Given the description of an element on the screen output the (x, y) to click on. 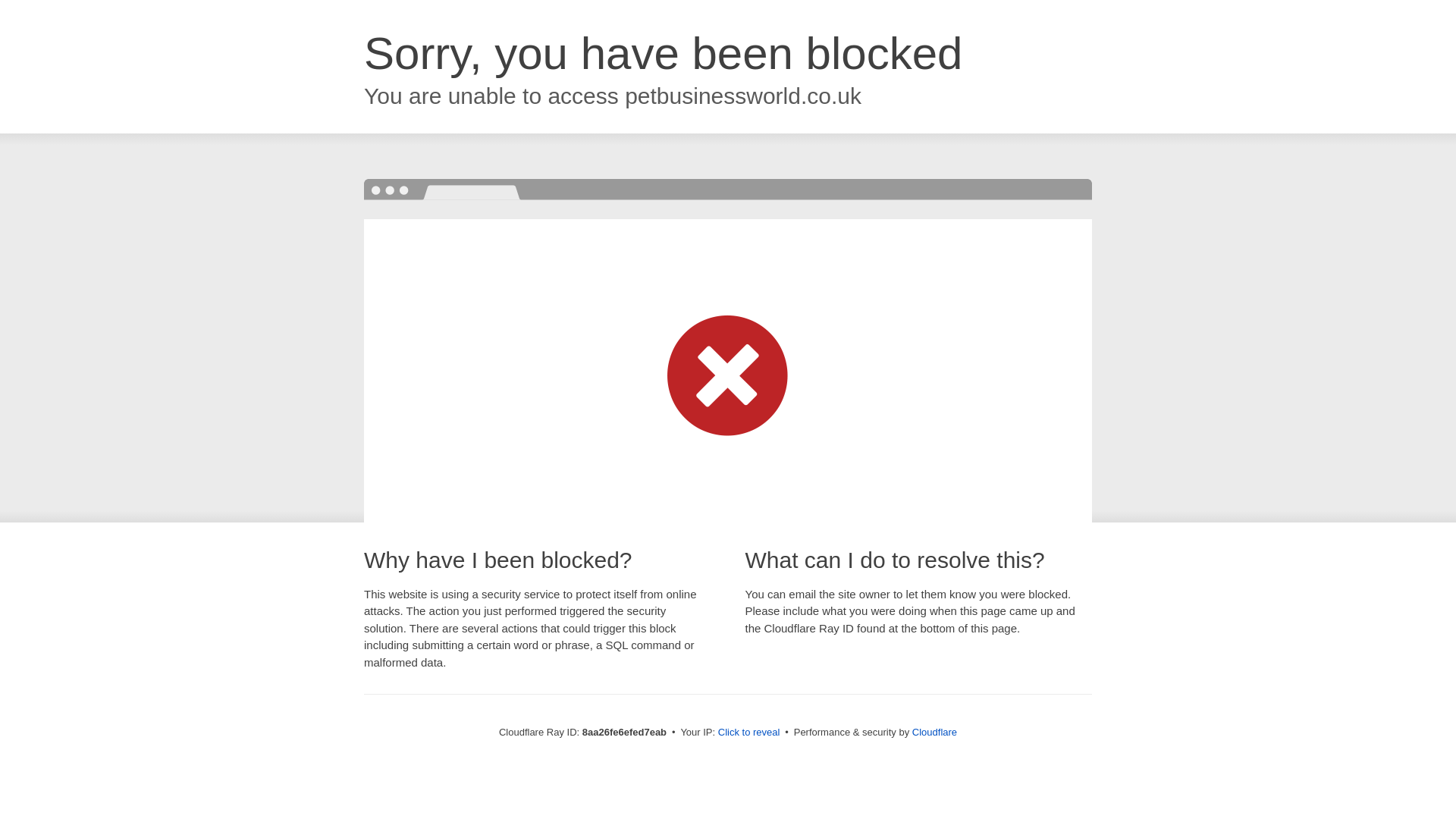
Cloudflare (934, 731)
Click to reveal (748, 732)
